Given the description of an element on the screen output the (x, y) to click on. 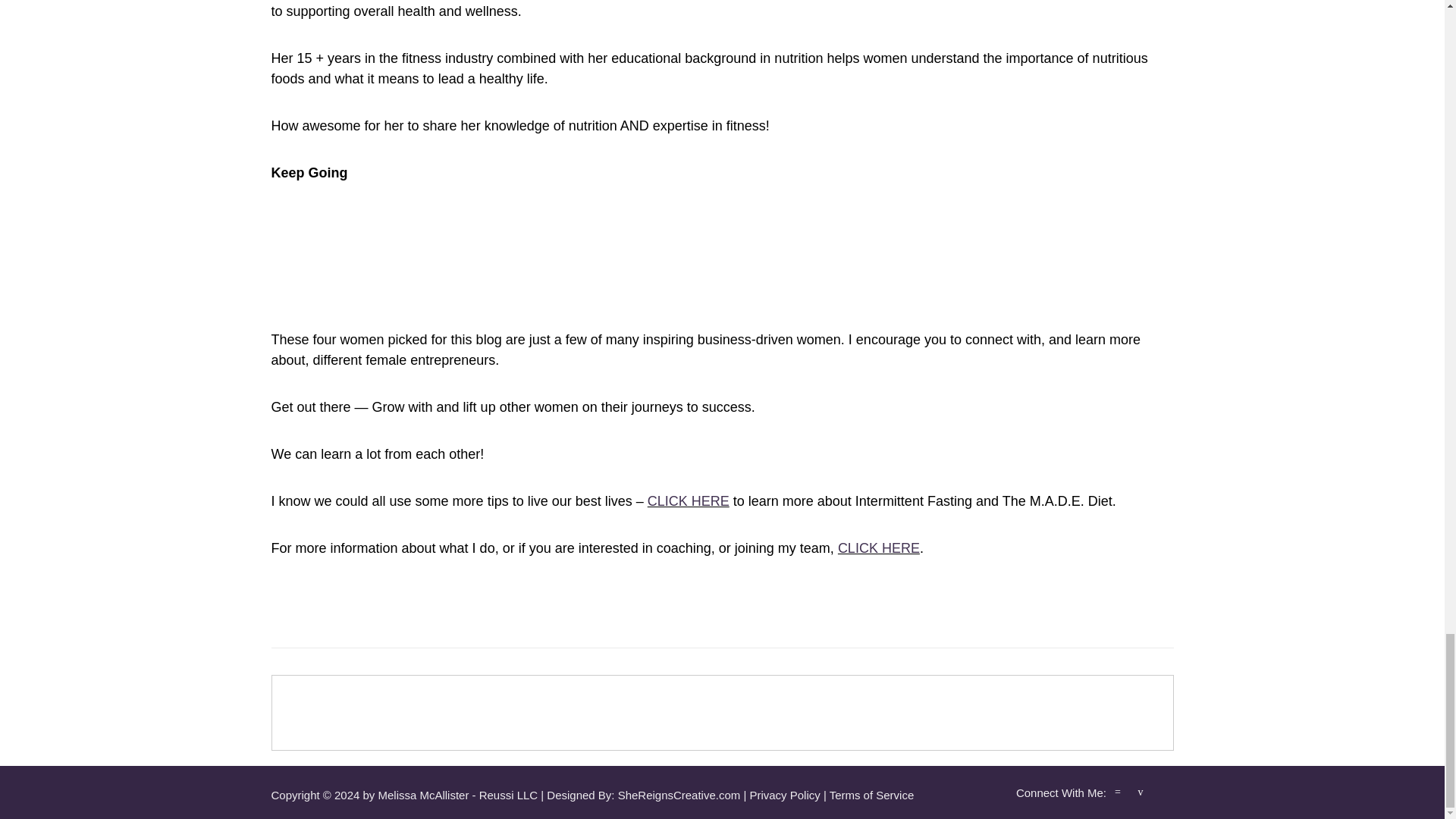
Privacy Policy (784, 794)
Terms of Service (871, 794)
CLICK HERE (879, 548)
SheReignsCreative.com (679, 794)
CLICK HERE (688, 500)
